Given the description of an element on the screen output the (x, y) to click on. 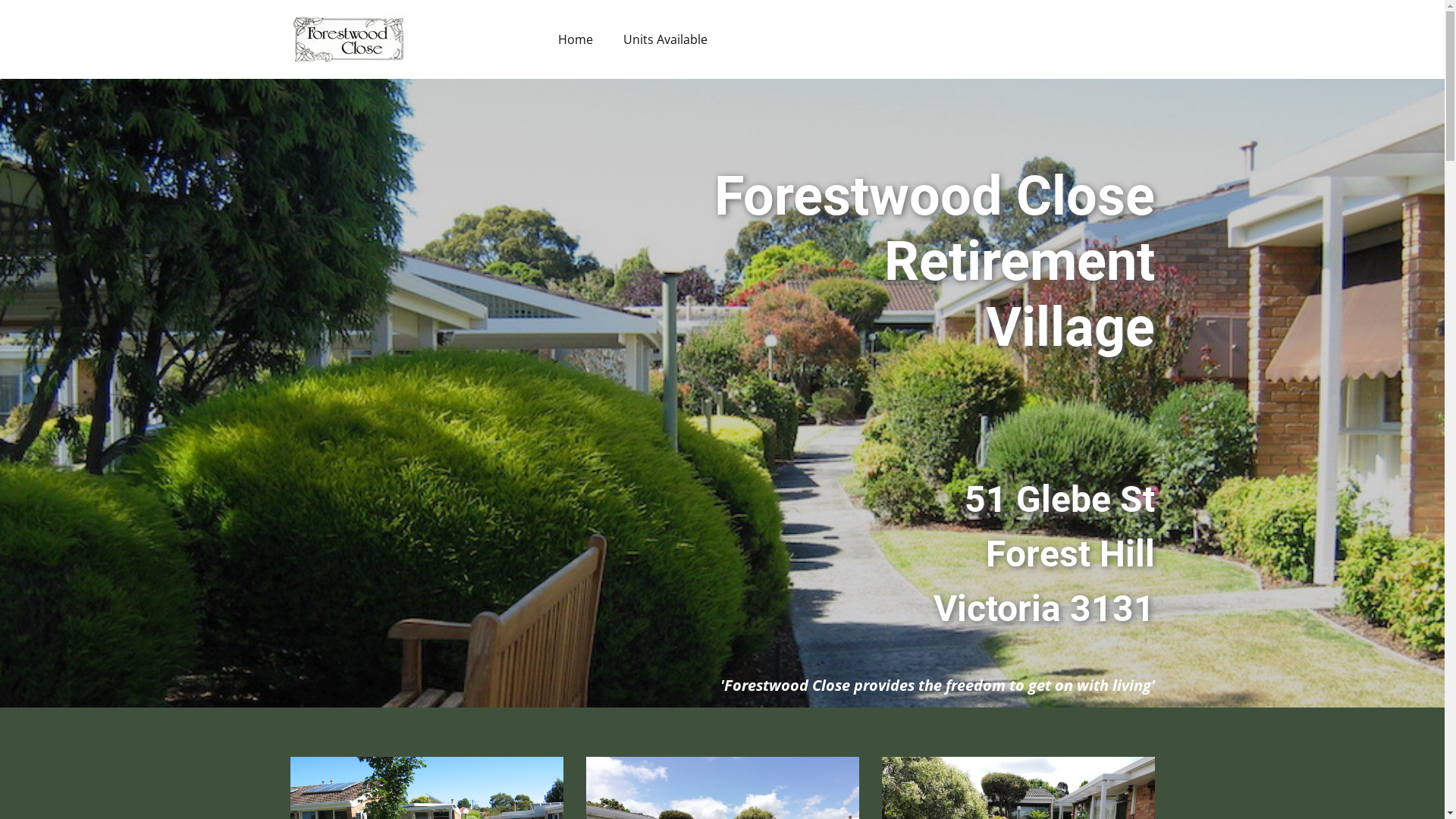
Home Element type: text (575, 39)
Forestwood Close (2) Element type: hover (348, 39)
